Given the description of an element on the screen output the (x, y) to click on. 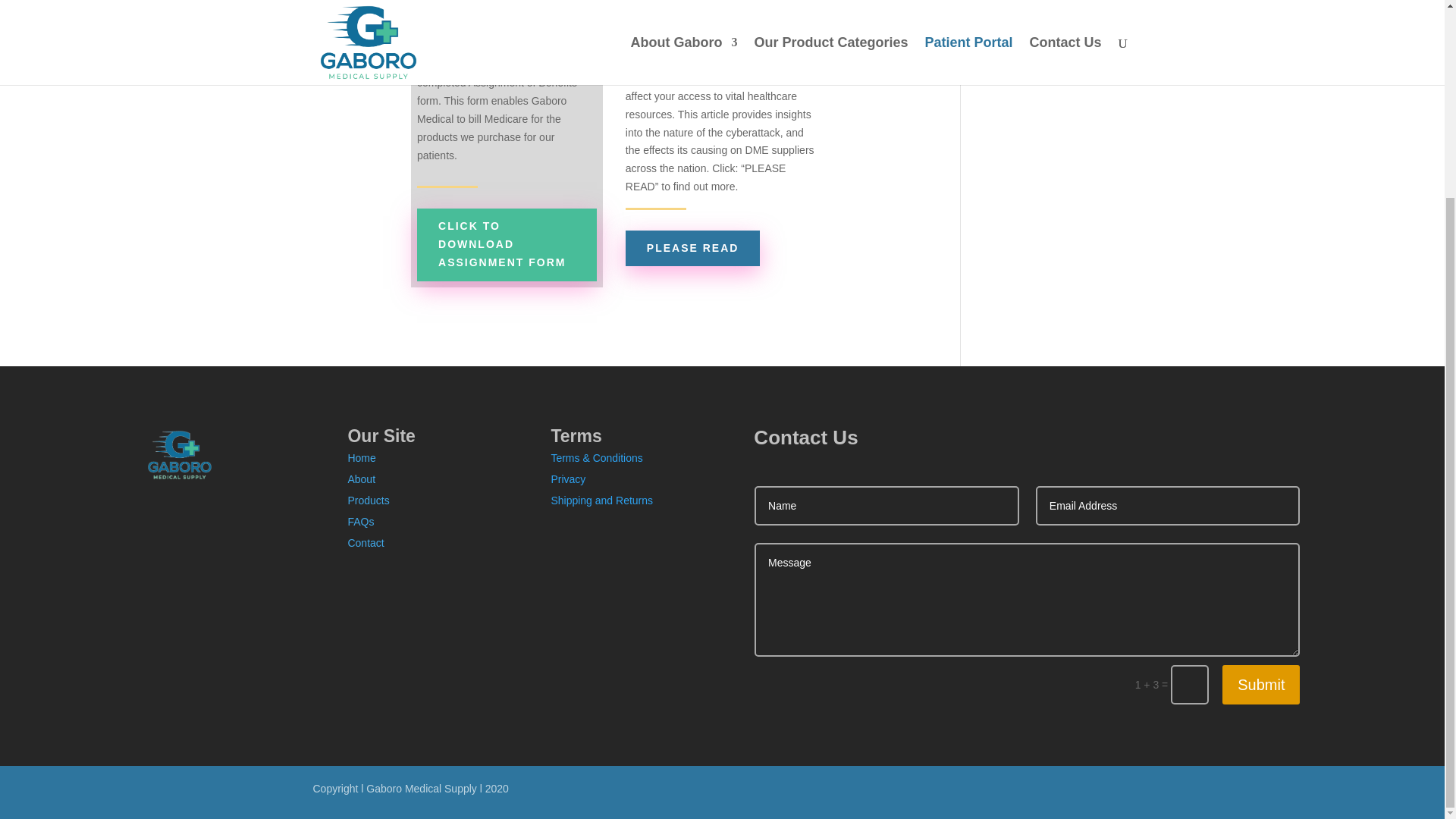
CLICK TO DOWNLOAD ASSIGNMENT FORM (506, 244)
WordPress Resources at SiteGround (1042, 66)
Submit (1261, 684)
About (361, 479)
PLEASE READ (693, 248)
FAQs (360, 521)
Contact (365, 542)
Shipping and Returns (601, 500)
Privacy (567, 479)
Products (367, 500)
Home (361, 458)
A WordPress Commenter (1043, 39)
